Given the description of an element on the screen output the (x, y) to click on. 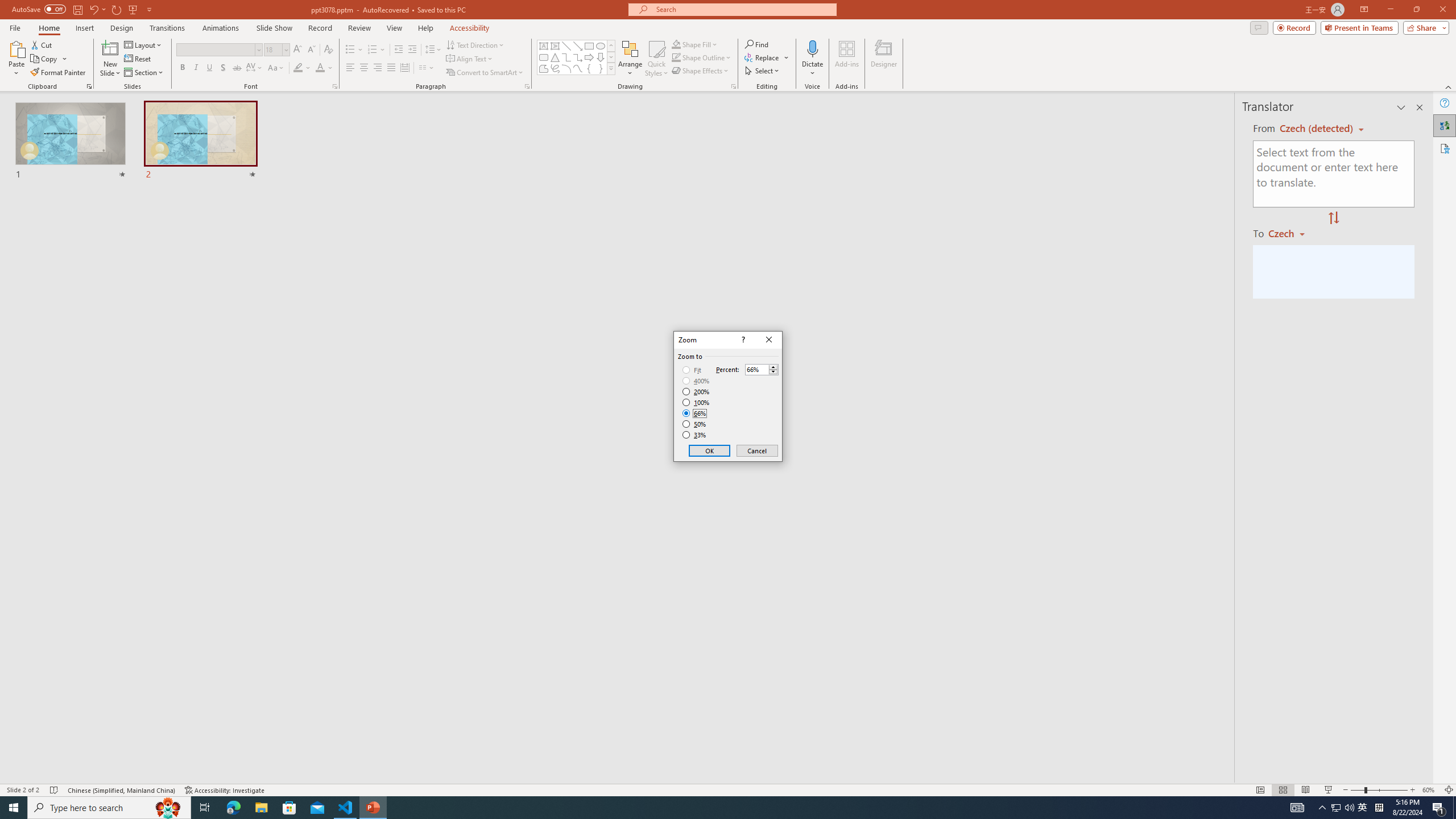
Zoom 60% (1430, 790)
Shape Outline Green, Accent 1 (675, 56)
Microsoft Edge (233, 807)
Running applications (707, 807)
